Given the description of an element on the screen output the (x, y) to click on. 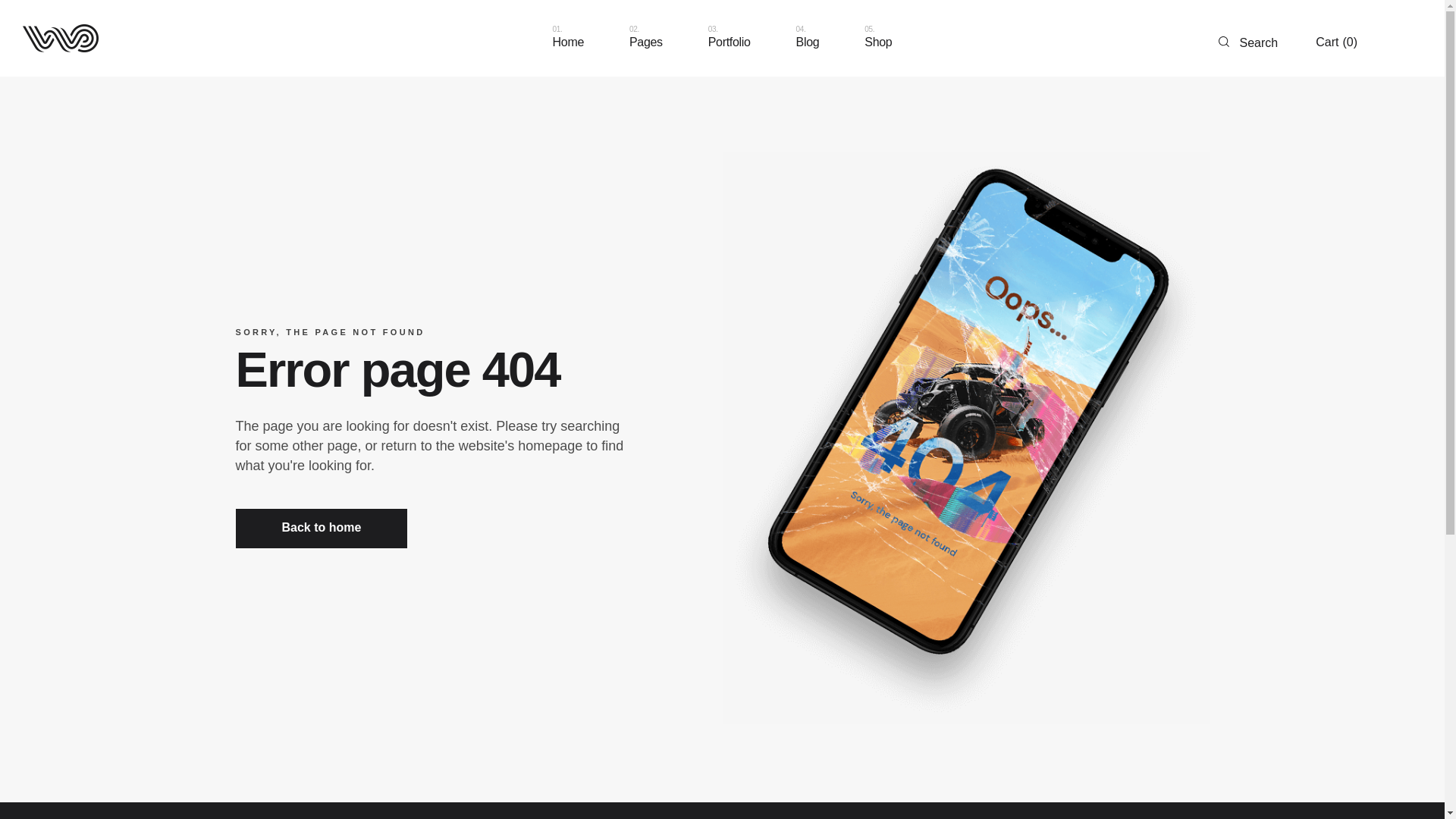
Blog (808, 38)
Search (1248, 38)
Pages (646, 38)
Portfolio (1336, 42)
Home (729, 38)
Shop (568, 38)
